Given the description of an element on the screen output the (x, y) to click on. 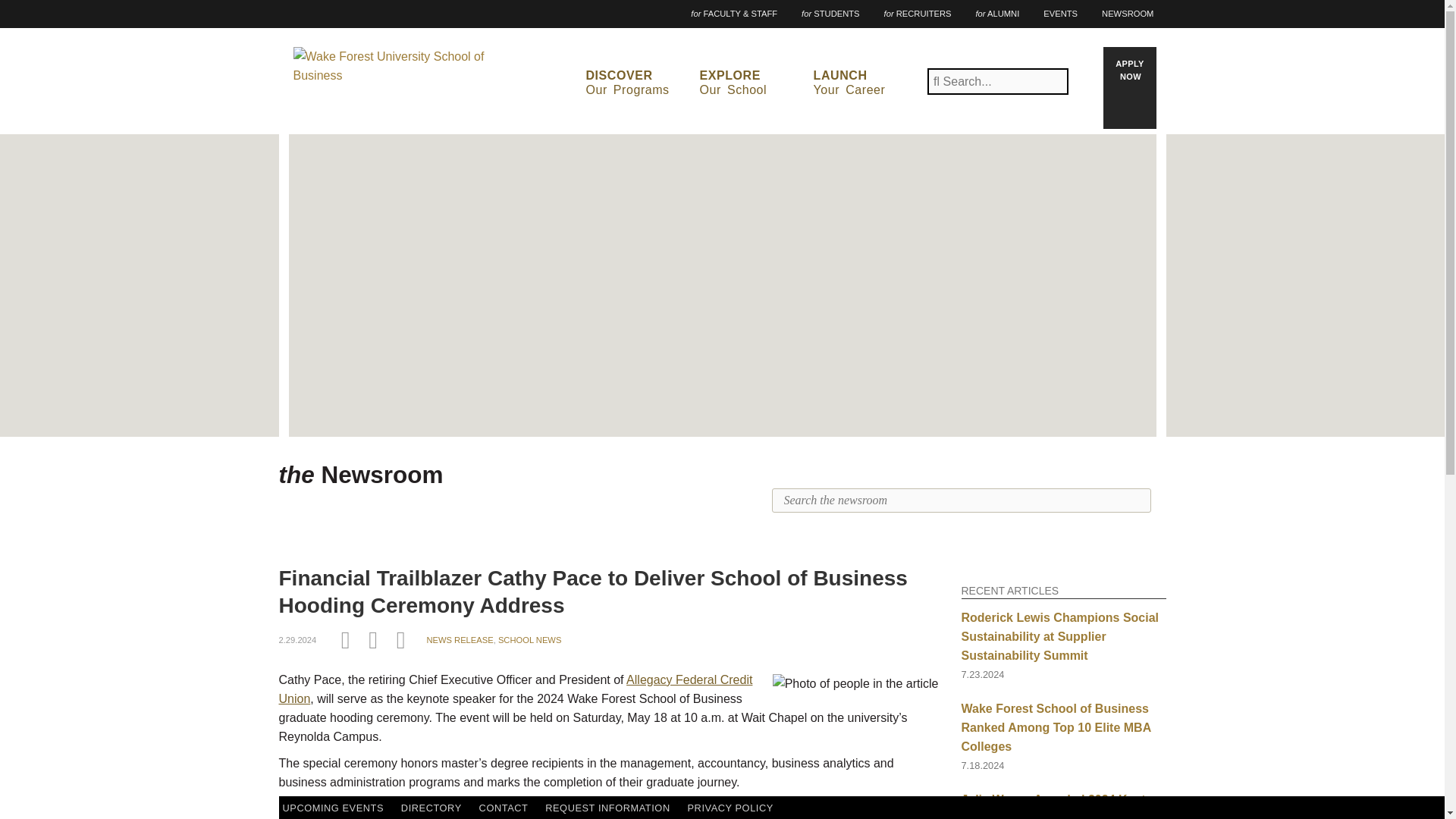
Explore Our School (753, 83)
Wake Forest University School of Business (866, 83)
SCHOOL NEWS (404, 74)
NEWSROOM (753, 83)
EVENTS (529, 639)
NEWS RELEASE (1127, 13)
for RECRUITERS (1059, 13)
Discover Our Programs (459, 639)
for STUDENTS (917, 13)
the Newsroom (638, 83)
Launch Your Career (829, 13)
for ALUMNI (361, 474)
